Given the description of an element on the screen output the (x, y) to click on. 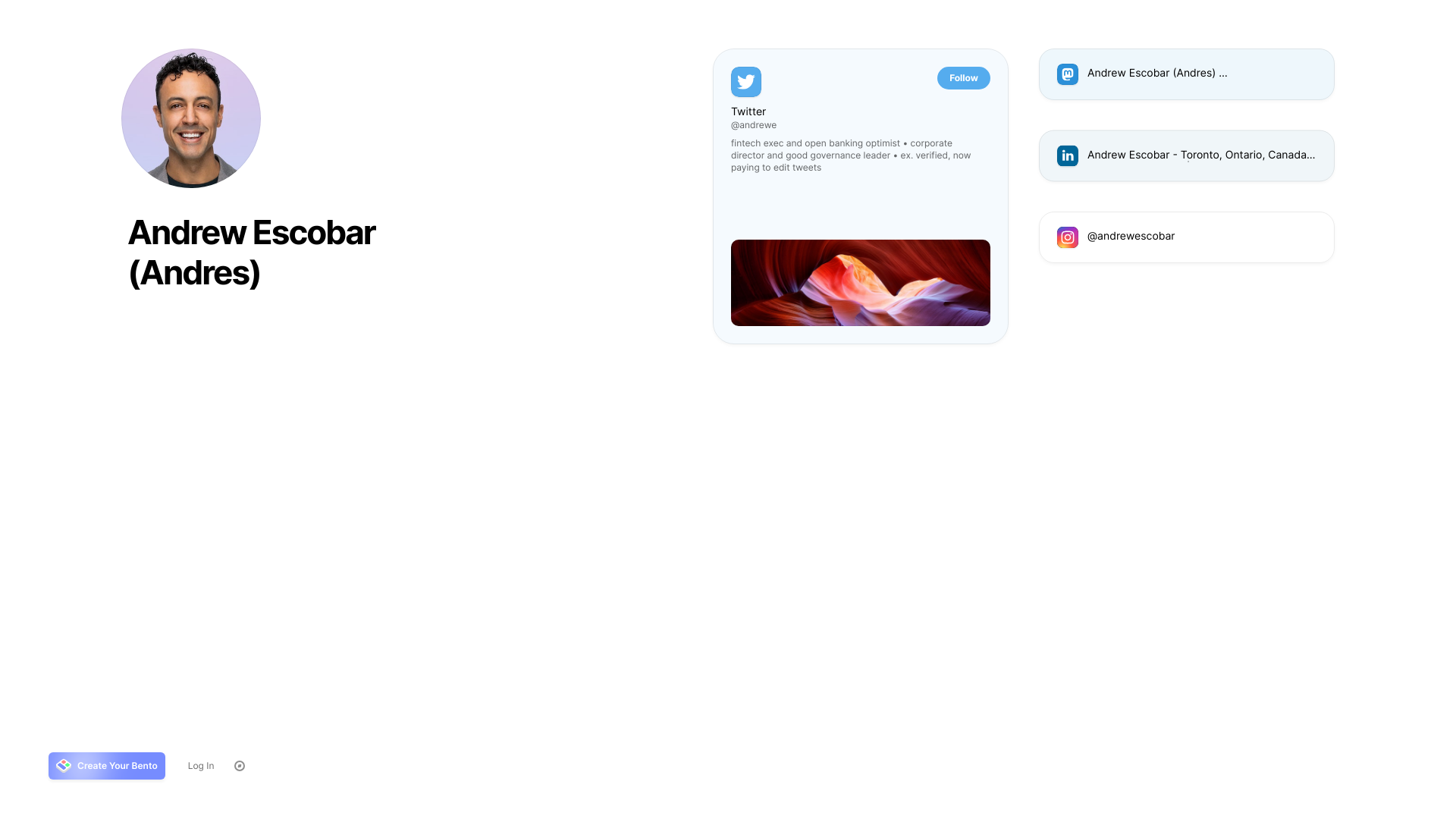
Create Your Bento Element type: text (106, 765)
@andrewescobar Element type: text (1186, 237)
Log In Element type: text (201, 765)
Andrew Escobar (Andres) (@andrewe@mastodon.social) Element type: text (1186, 74)
